Given the description of an element on the screen output the (x, y) to click on. 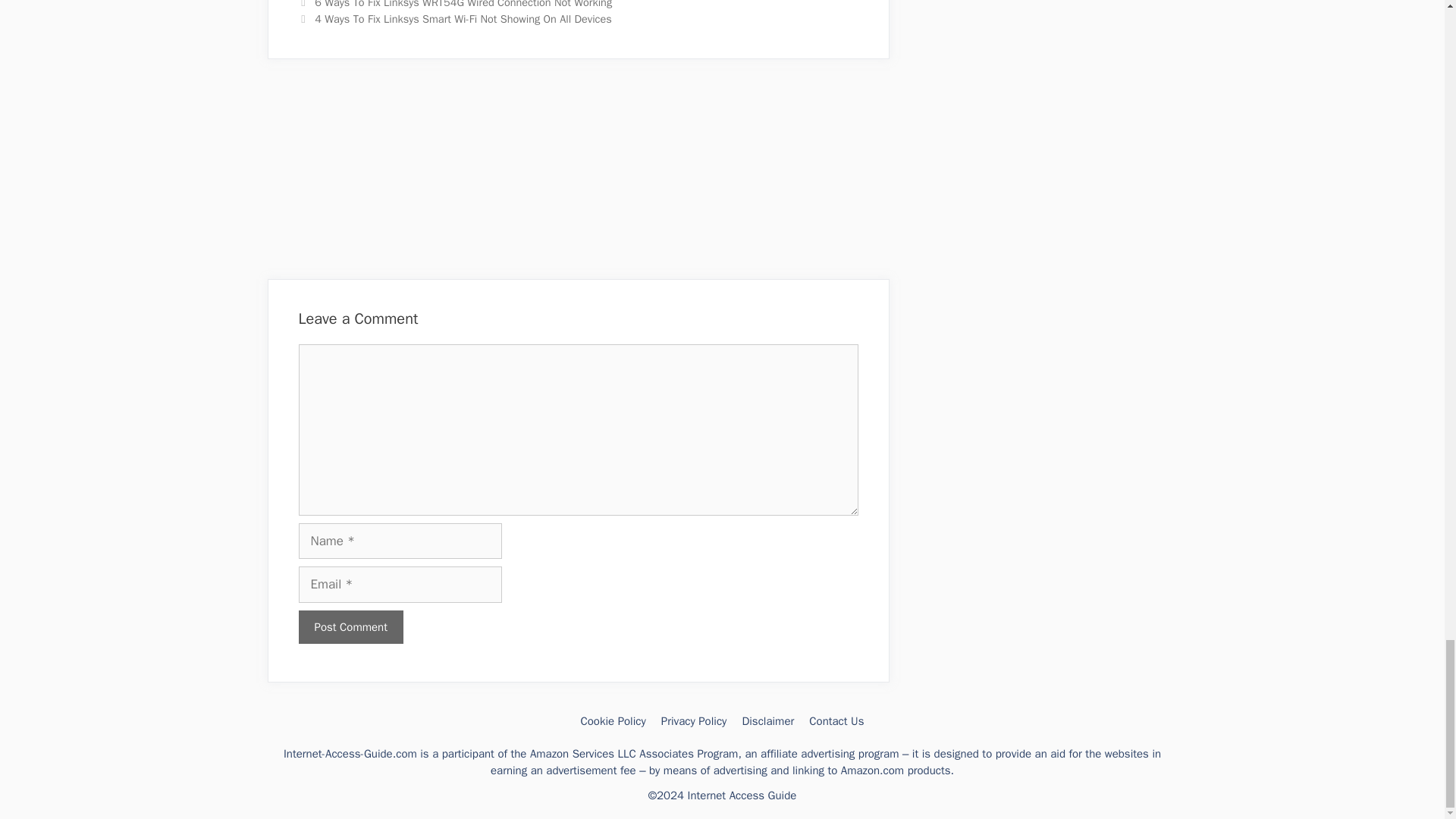
Next (454, 18)
Post Comment (350, 627)
Previous (455, 4)
